Given the description of an element on the screen output the (x, y) to click on. 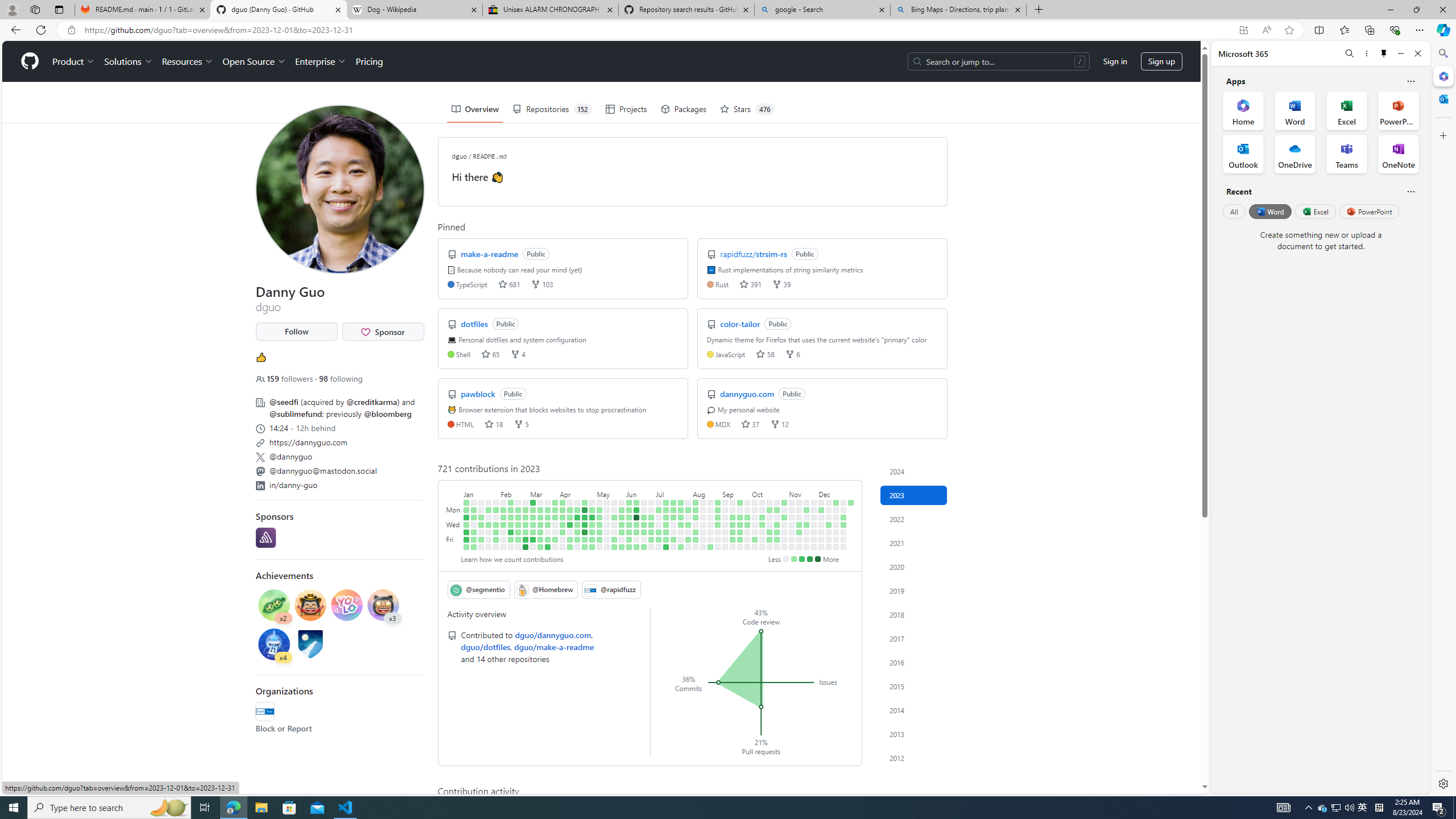
No contributions on October 22nd. (777, 502)
Tuesday (454, 517)
No contributions on August 21st. (710, 509)
LinkedIn (259, 485)
No contributions on February 9th. (503, 531)
No contributions on July 22nd. (674, 546)
Contribution activity in 2014 (913, 709)
2 contributions on January 12th. (473, 531)
Achievement: Pull Shark x4 (273, 645)
No contributions on February 10th. (503, 539)
1 contribution on July 9th. (665, 502)
No contributions on October 21st. (770, 546)
No contributions on October 9th. (761, 509)
5 contributions on February 21st. (518, 517)
7 contributions on June 14th. (636, 524)
